Given the description of an element on the screen output the (x, y) to click on. 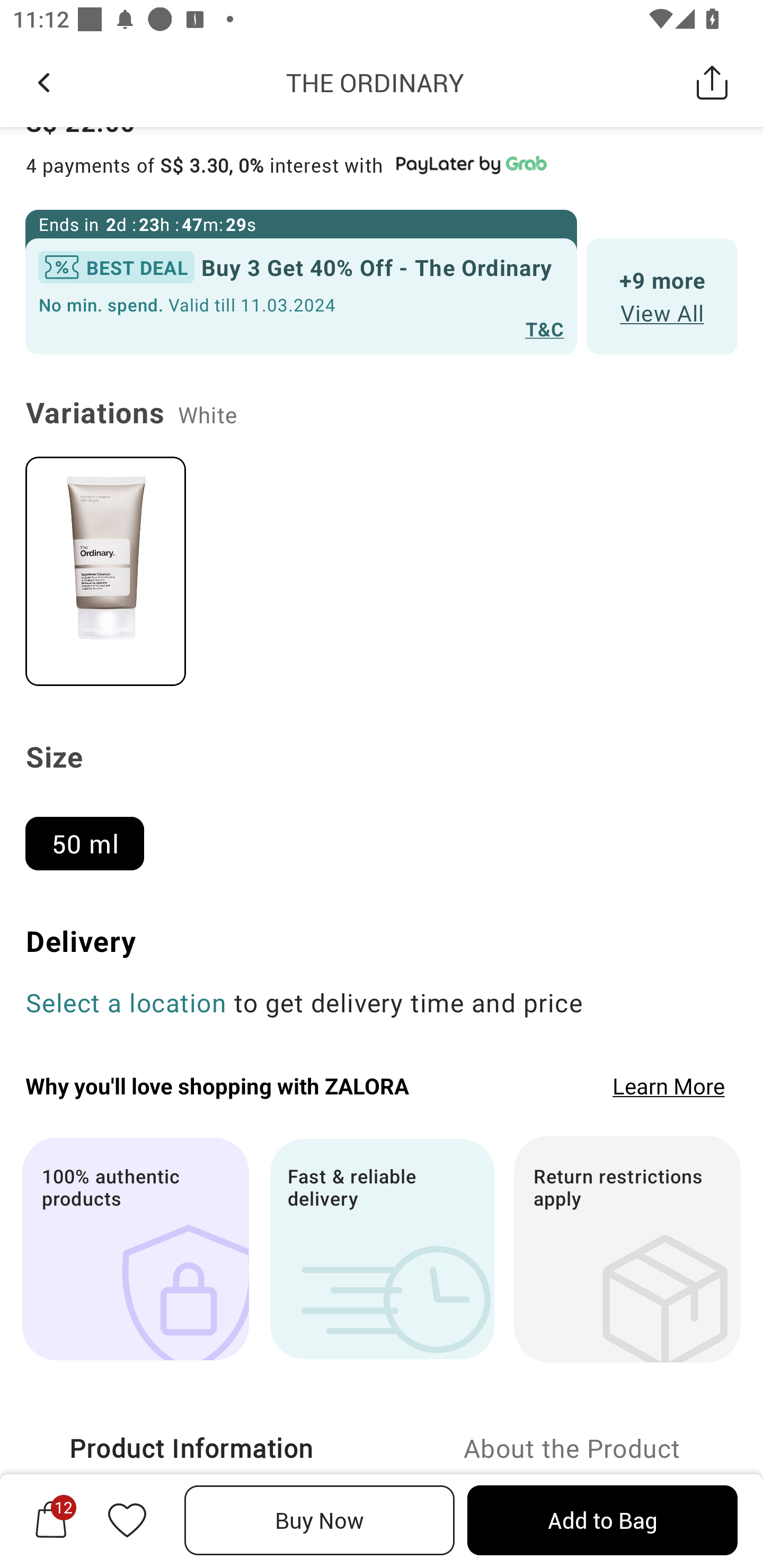
THE ORDINARY (375, 82)
Share this Product (711, 82)
+9 more
View All (661, 296)
T&C (544, 328)
50 ml (92, 835)
Learn More (668, 1085)
100% authentic products (135, 1248)
Fast & reliable delivery (381, 1248)
Return restrictions apply (627, 1248)
About the Product (572, 1447)
Buy Now (319, 1519)
Add to Bag (601, 1519)
12 (50, 1520)
